Given the description of an element on the screen output the (x, y) to click on. 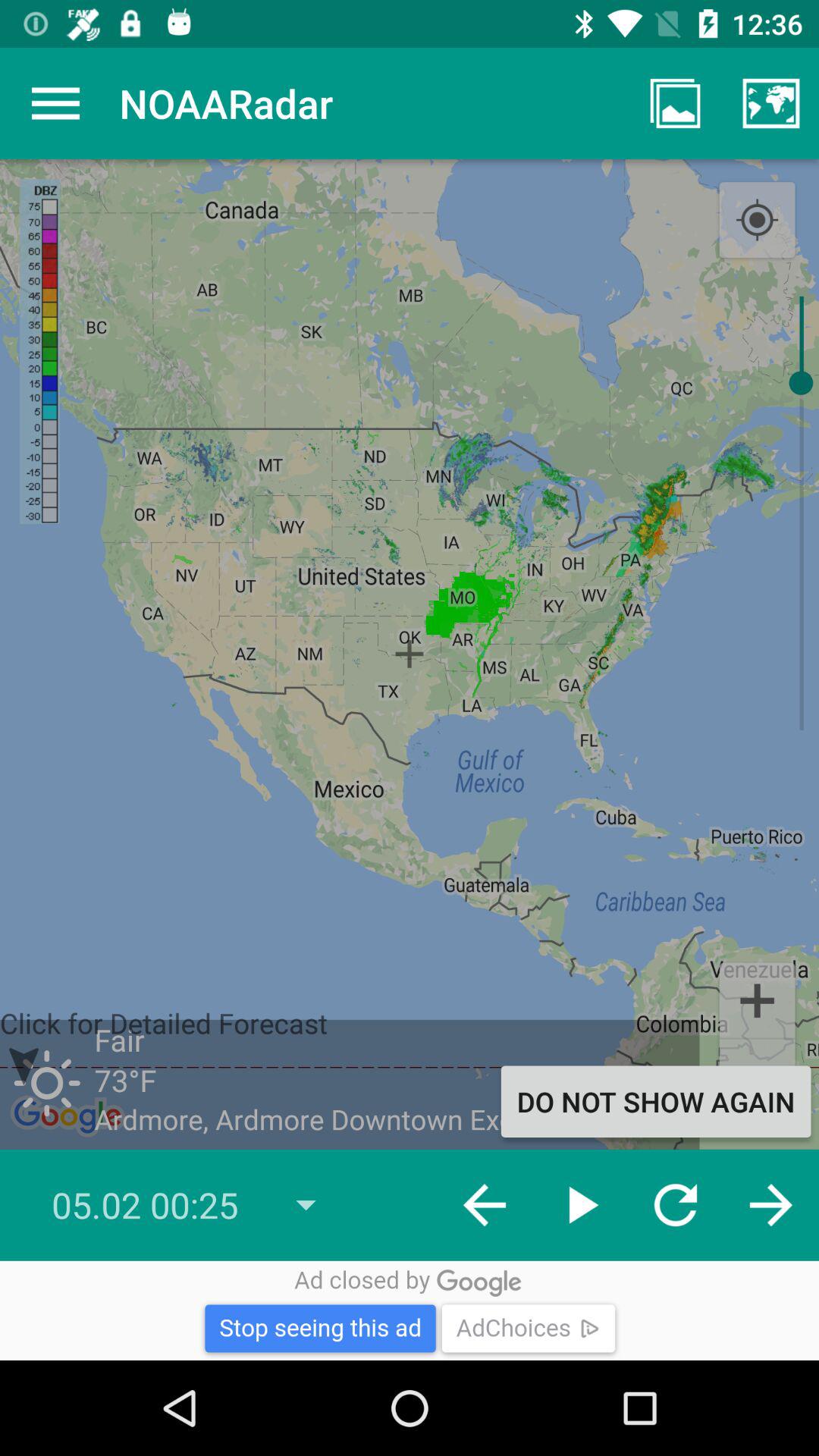
block advertisement (409, 1310)
